Given the description of an element on the screen output the (x, y) to click on. 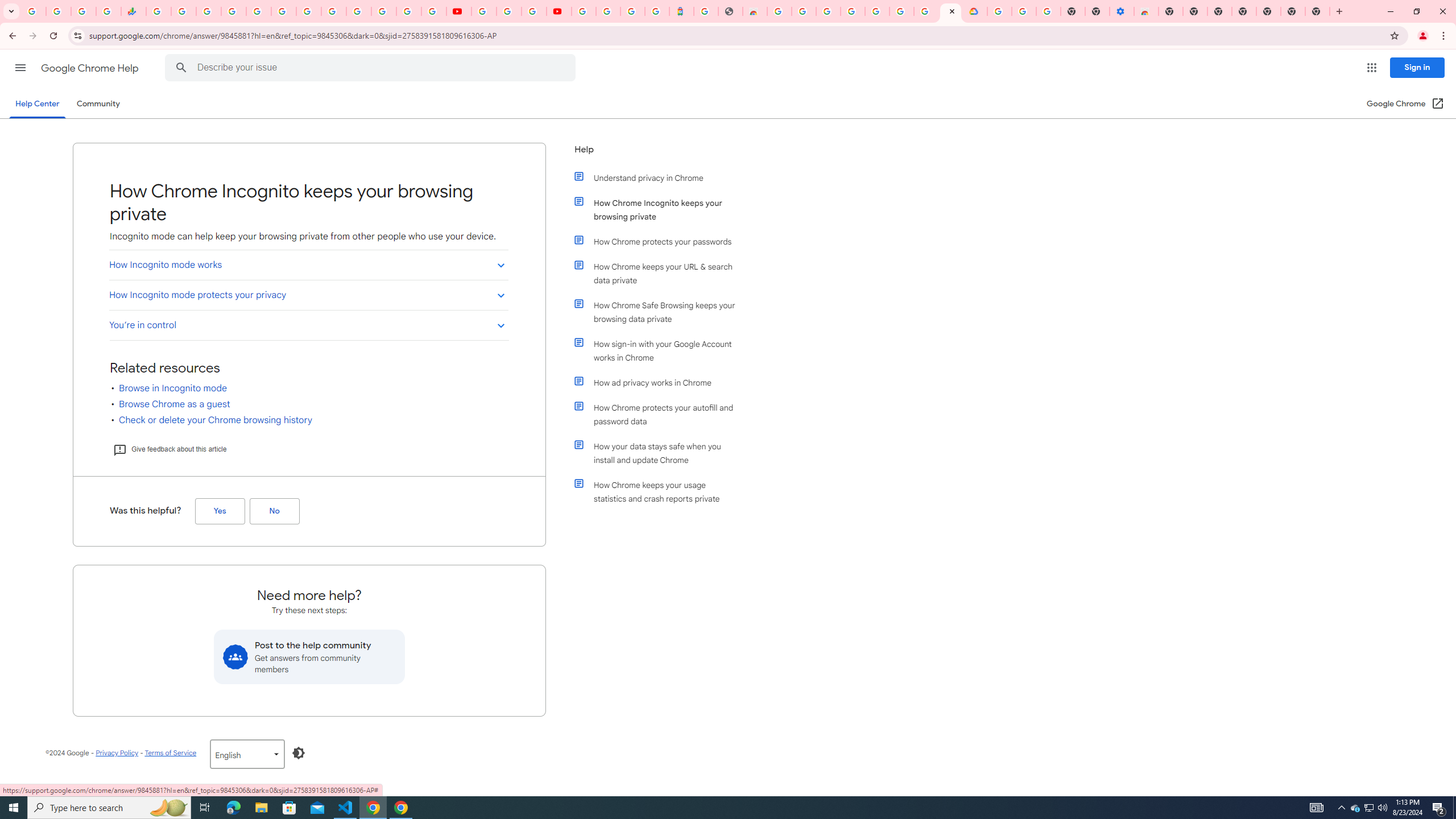
YouTube (332, 11)
Sign in - Google Accounts (358, 11)
Sign in - Google Accounts (852, 11)
Enable Dark Mode (299, 752)
Settings - Accessibility (1121, 11)
Browse in Incognito mode (173, 387)
Community (97, 103)
How your data stays safe when you install and update Chrome (661, 453)
No (Was this helpful?) (273, 510)
